Given the description of an element on the screen output the (x, y) to click on. 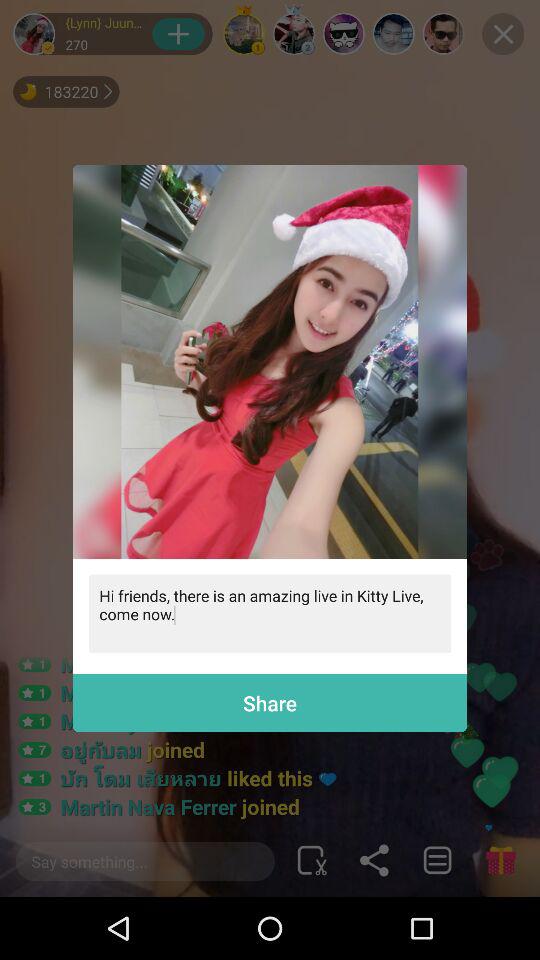
join live stream (269, 361)
